Given the description of an element on the screen output the (x, y) to click on. 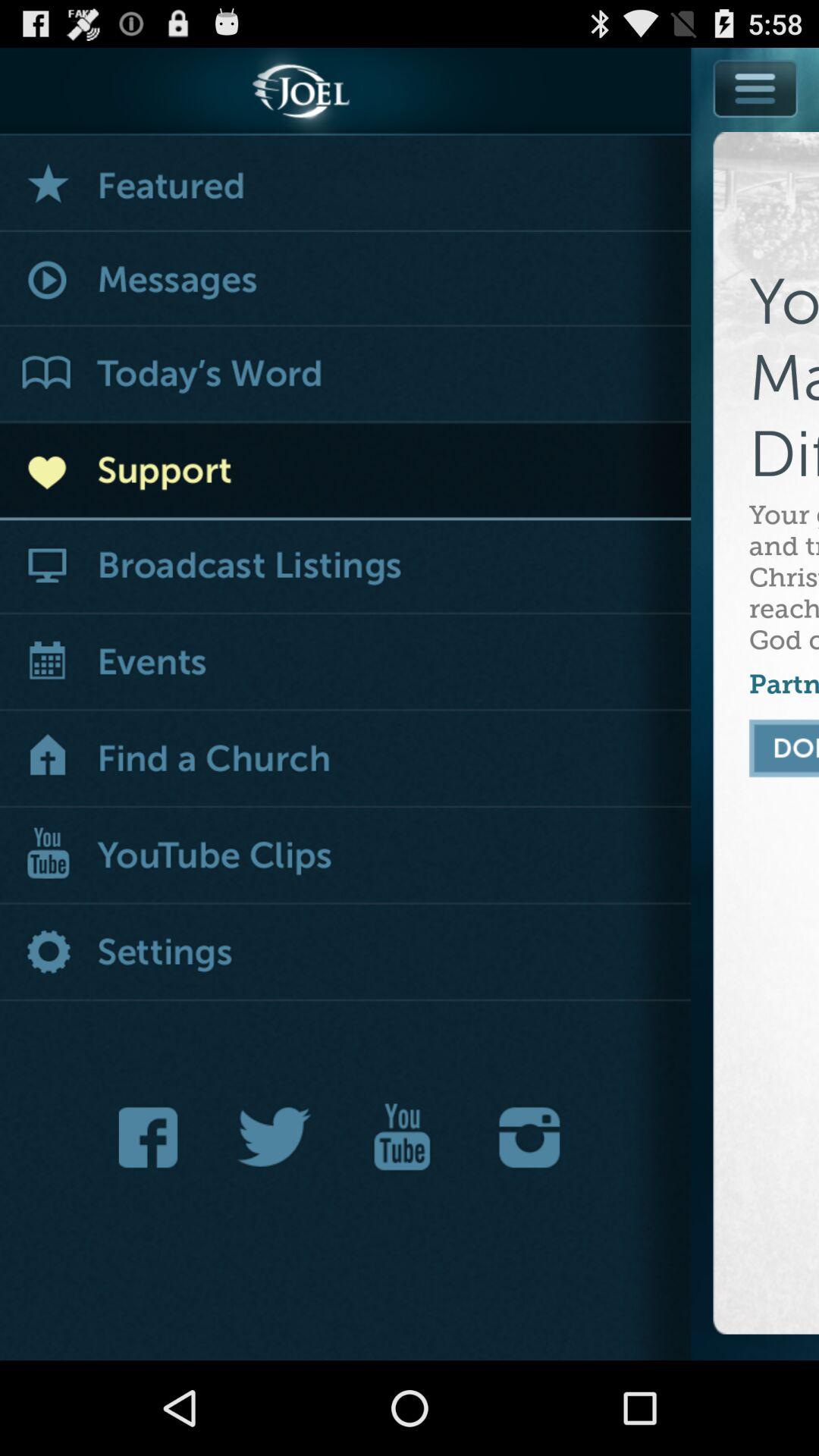
press icon next to partner with us (345, 760)
